Given the description of an element on the screen output the (x, y) to click on. 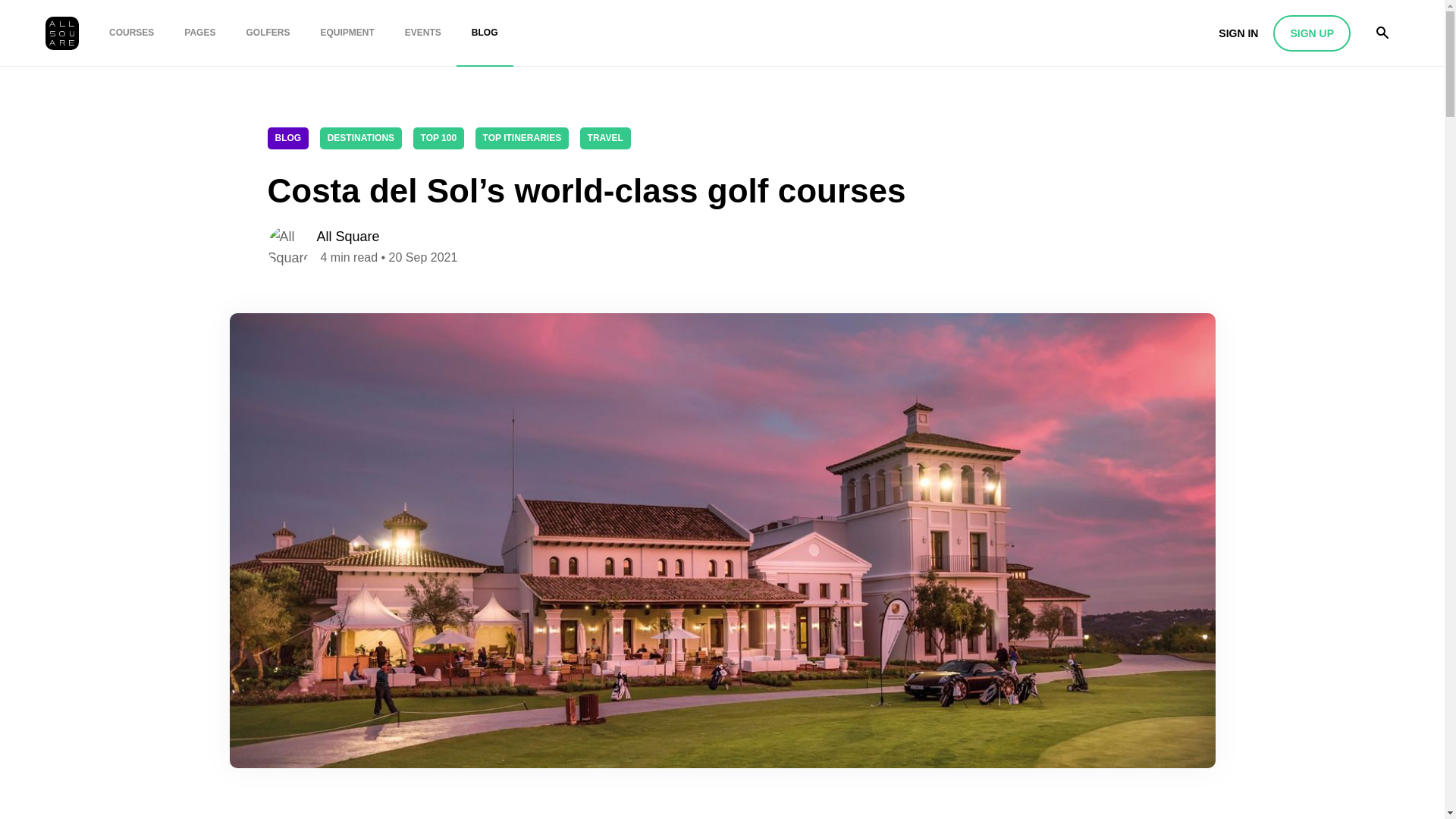
SIGN UP (1311, 33)
COURSES (131, 33)
PAGES (199, 33)
EVENTS (423, 33)
SIGN IN (1238, 32)
EQUIPMENT (346, 33)
GOLFERS (267, 33)
